Given the description of an element on the screen output the (x, y) to click on. 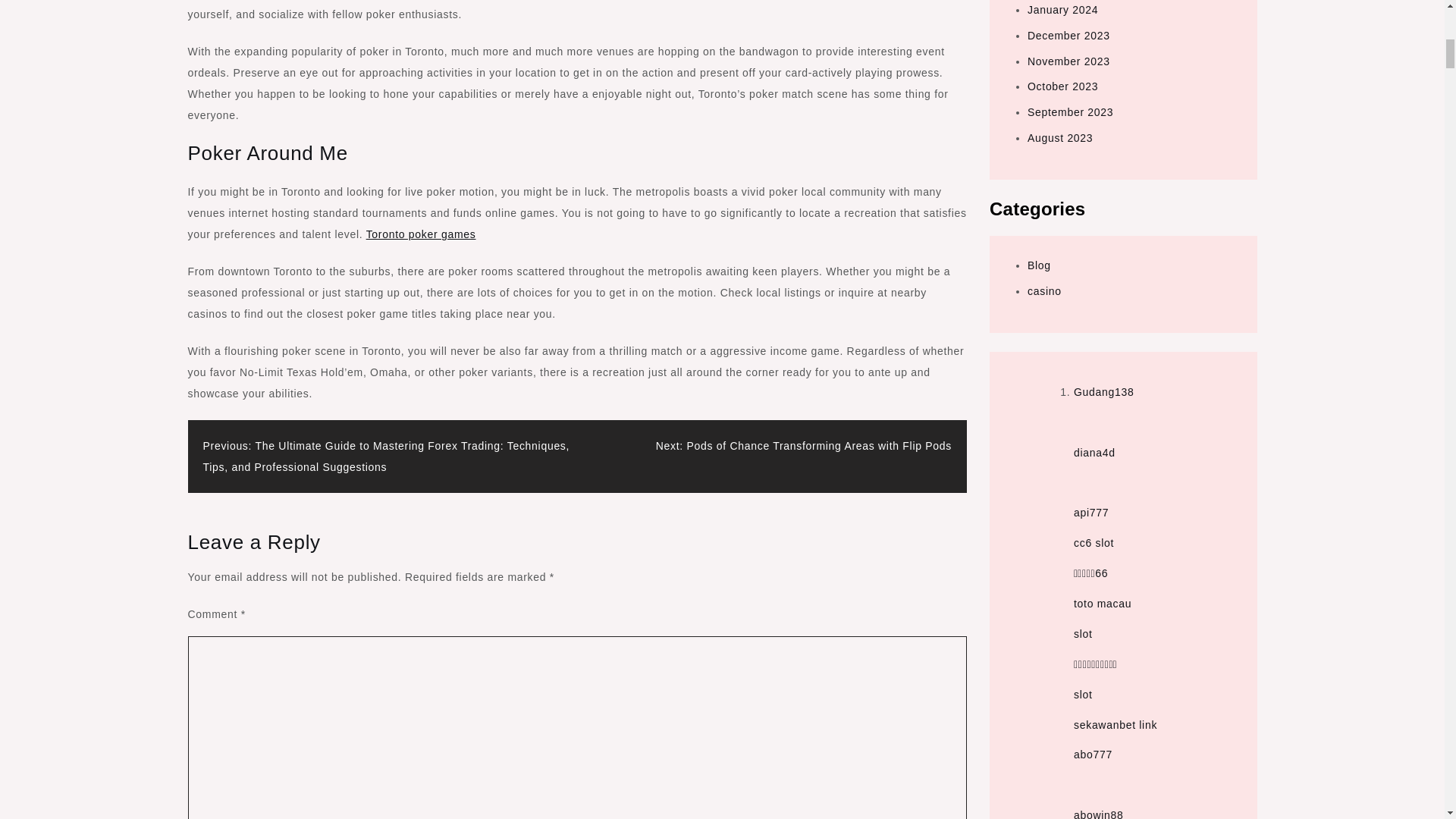
Toronto poker games (421, 234)
August 2023 (1060, 137)
Blog (1039, 265)
Gudang138 (1104, 391)
Next: Pods of Chance Transforming Areas with Flip Pods (804, 445)
November 2023 (1068, 61)
toto macau (1102, 603)
api777 (1091, 512)
diana4d (1094, 451)
September 2023 (1070, 111)
cc6 slot (1093, 542)
December 2023 (1068, 35)
October 2023 (1062, 86)
January 2024 (1062, 9)
